Given the description of an element on the screen output the (x, y) to click on. 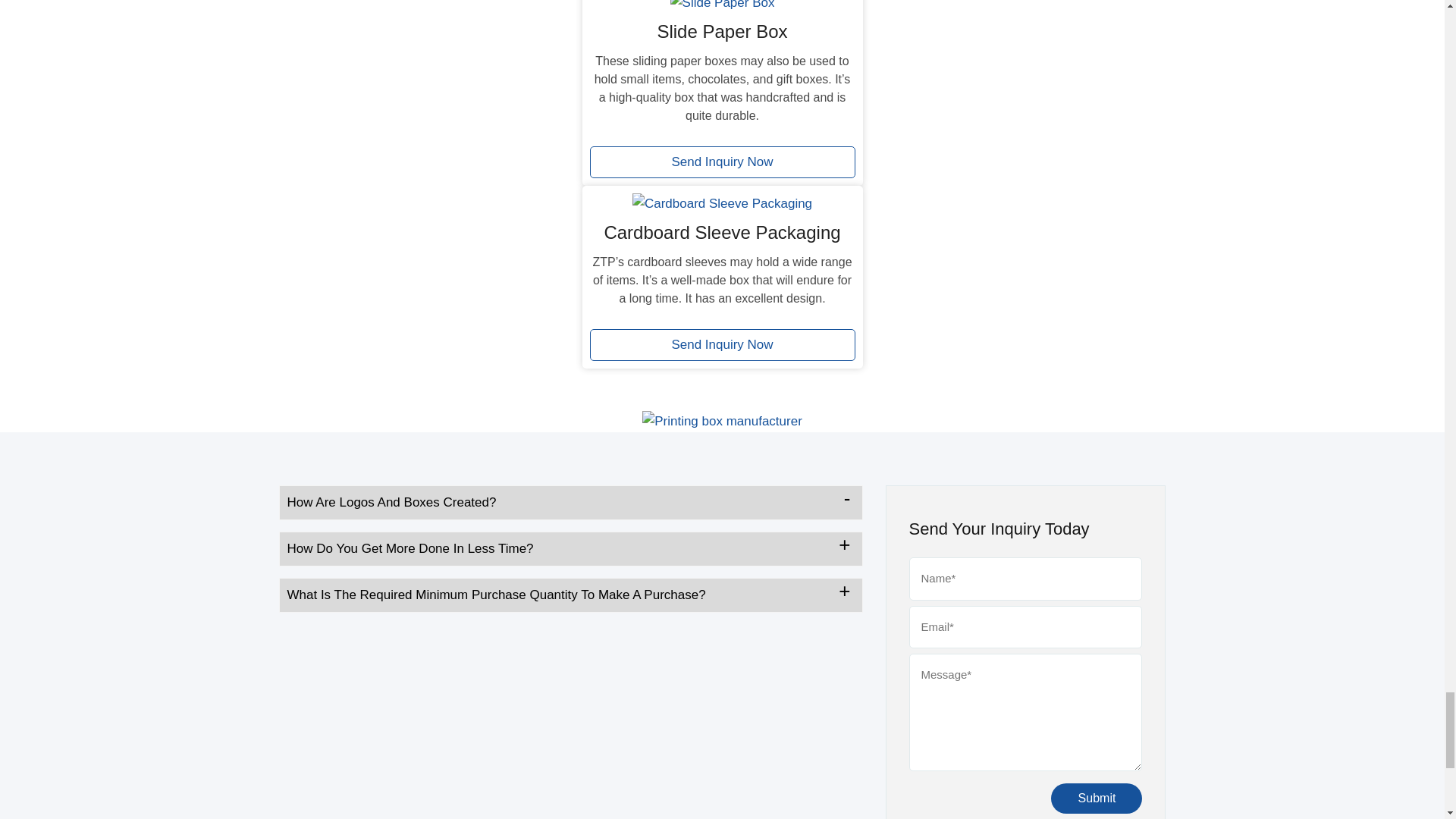
Submit (1096, 798)
